Given the description of an element on the screen output the (x, y) to click on. 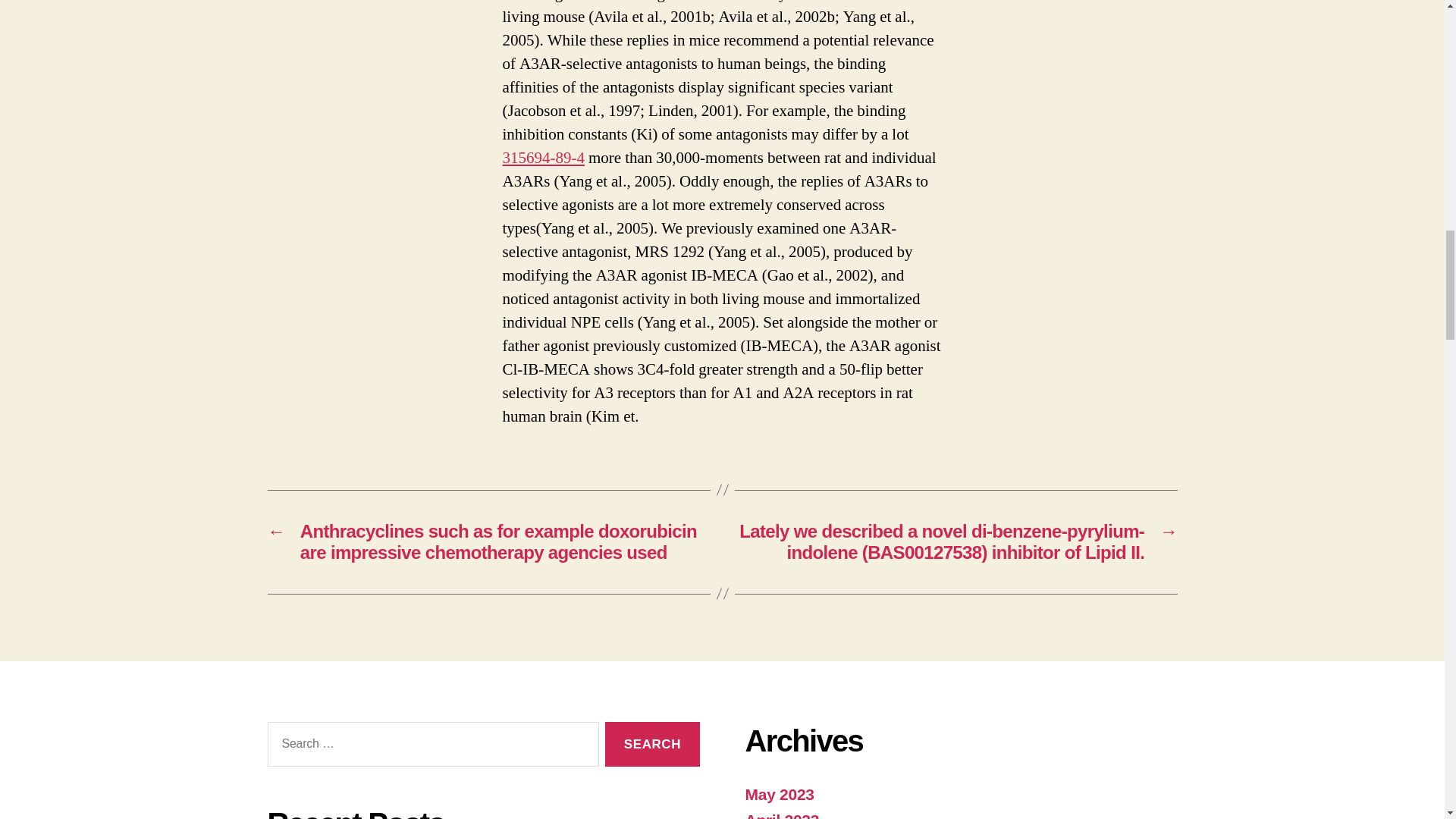
April 2023 (781, 815)
May 2023 (778, 794)
Search (651, 743)
Search (651, 743)
315694-89-4 (543, 158)
Search (651, 743)
